Given the description of an element on the screen output the (x, y) to click on. 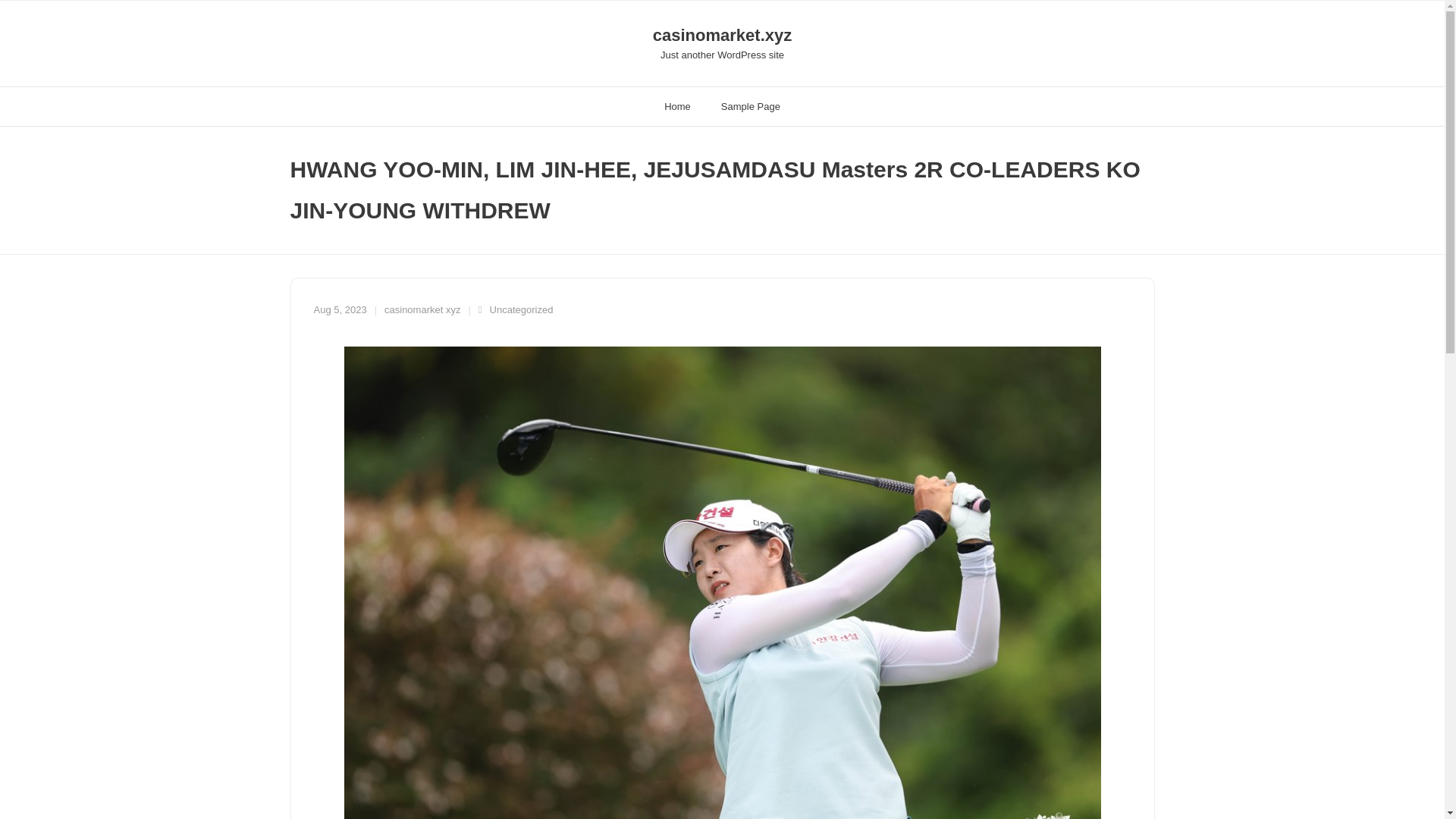
Uncategorized (521, 309)
casinomarket xyz (422, 309)
Home (677, 106)
View all posts by casinomarket xyz (422, 309)
Aug 5, 2023 (340, 309)
Sample Page (750, 106)
